Given the description of an element on the screen output the (x, y) to click on. 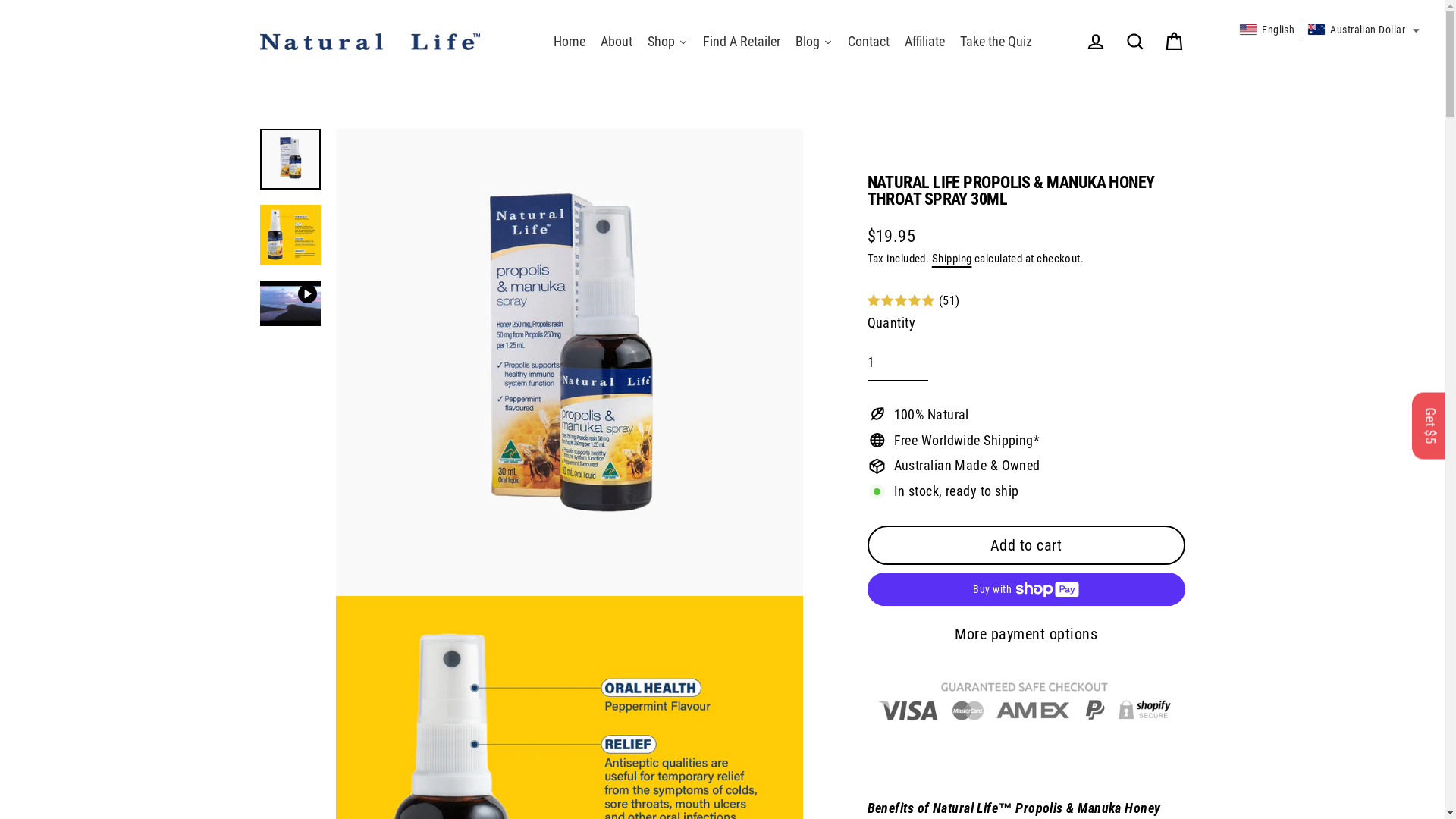
More payment options Element type: text (1026, 633)
Find A Retailer Element type: text (741, 41)
About Element type: text (616, 41)
Add to cart Element type: text (1026, 544)
Contact Element type: text (868, 41)
Affiliate Element type: text (924, 41)
Cart Element type: text (1173, 41)
Home Element type: text (569, 41)
Search Element type: text (1134, 41)
Log in Element type: text (1094, 41)
Skip to content Element type: text (0, 0)
Take the Quiz Element type: text (995, 41)
Shop Element type: text (667, 41)
Blog Element type: text (813, 41)
 (51) Element type: text (1026, 301)
Shipping Element type: text (951, 258)
